Given the description of an element on the screen output the (x, y) to click on. 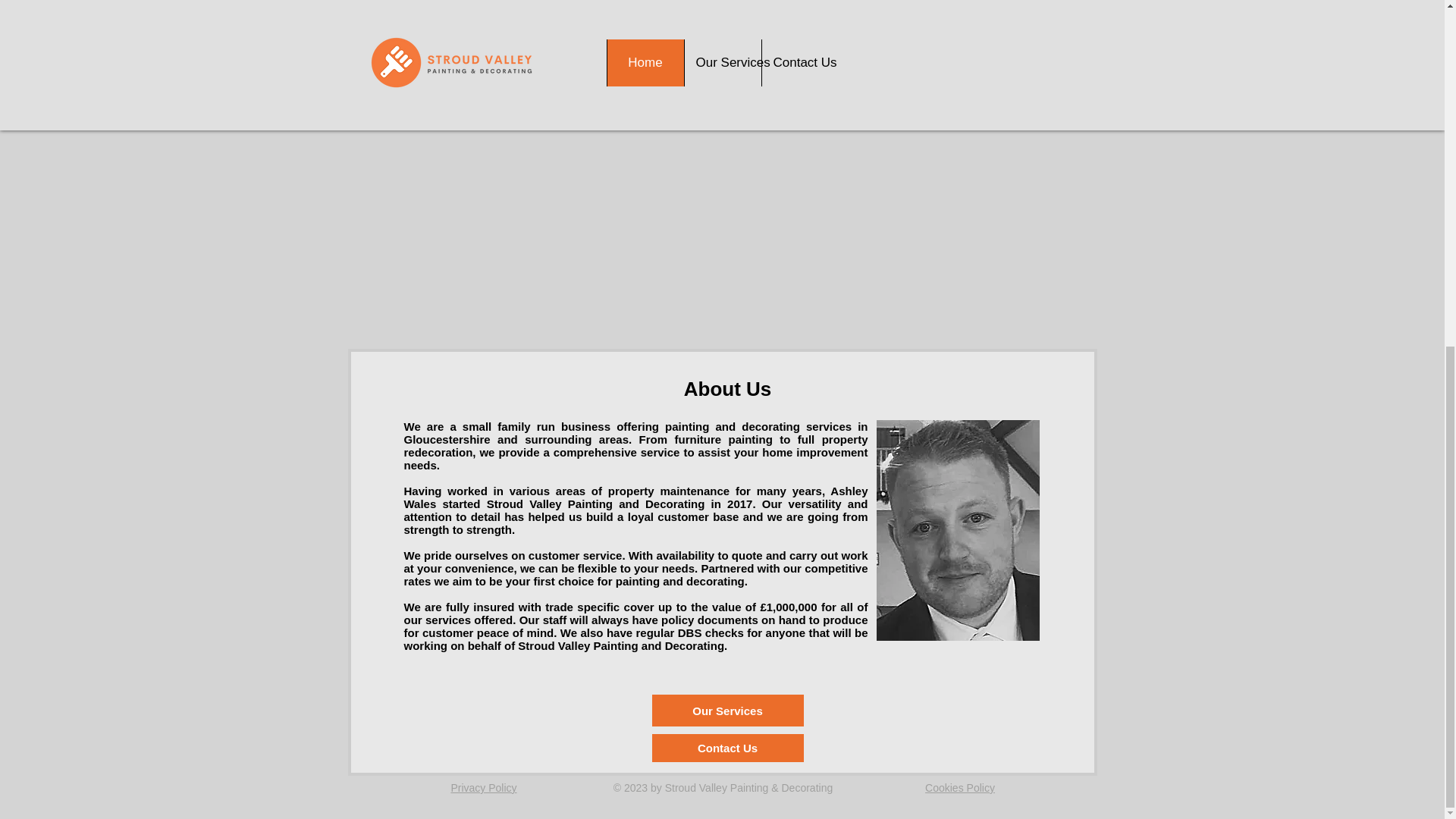
Contact Us (727, 747)
Privacy Policy (482, 787)
Our Services (727, 710)
Cookies Policy (959, 787)
